Given the description of an element on the screen output the (x, y) to click on. 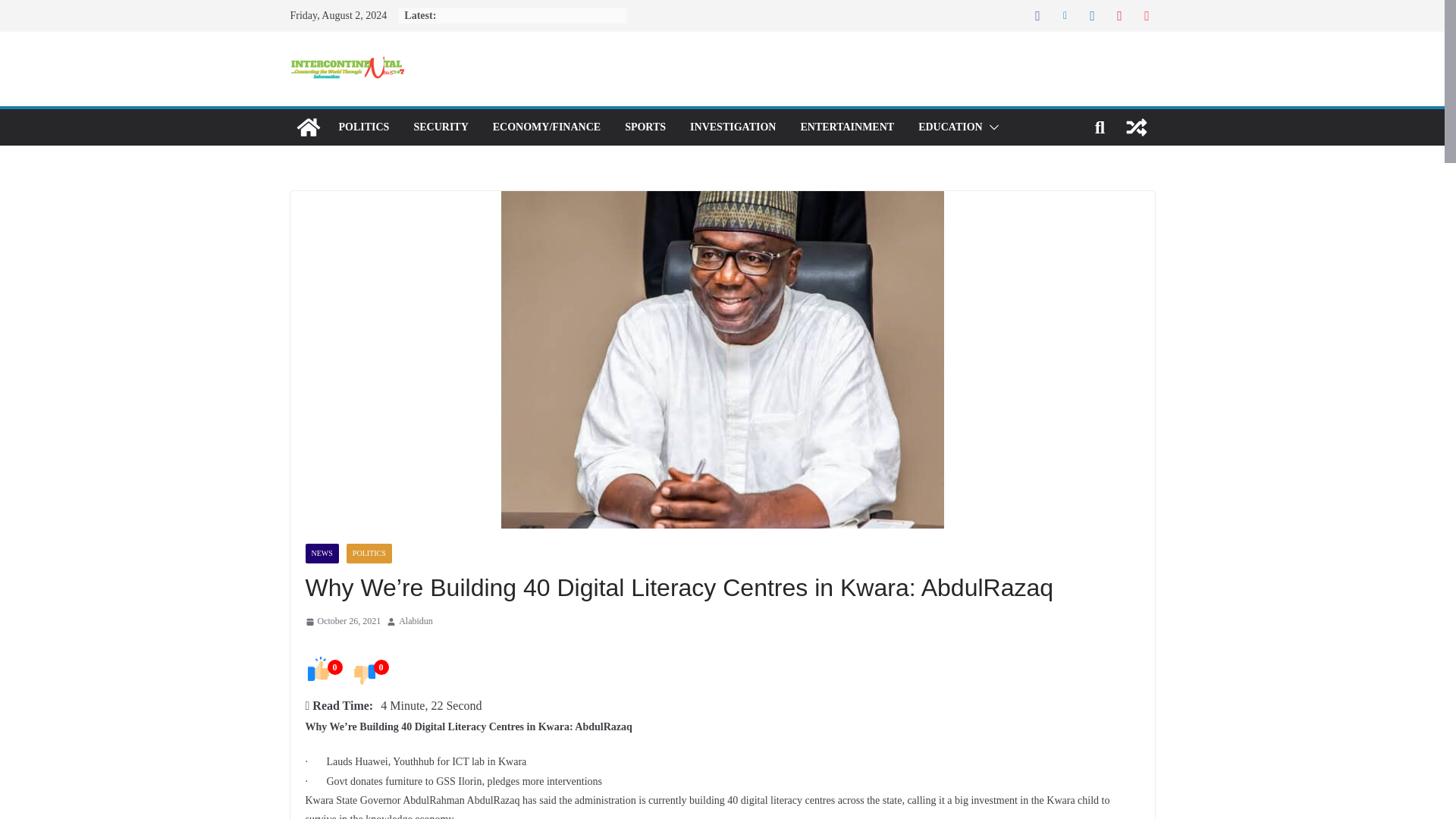
IntercontinentalNews247 (307, 126)
Alabidun (415, 621)
October 26, 2021 (342, 621)
POLITICS (362, 127)
NEWS (320, 553)
SPORTS (644, 127)
INVESTIGATION (733, 127)
View a random post (1136, 126)
ENTERTAINMENT (846, 127)
POLITICS (368, 553)
EDUCATION (950, 127)
7:32 PM (342, 621)
SECURITY (440, 127)
Alabidun (415, 621)
